Given the description of an element on the screen output the (x, y) to click on. 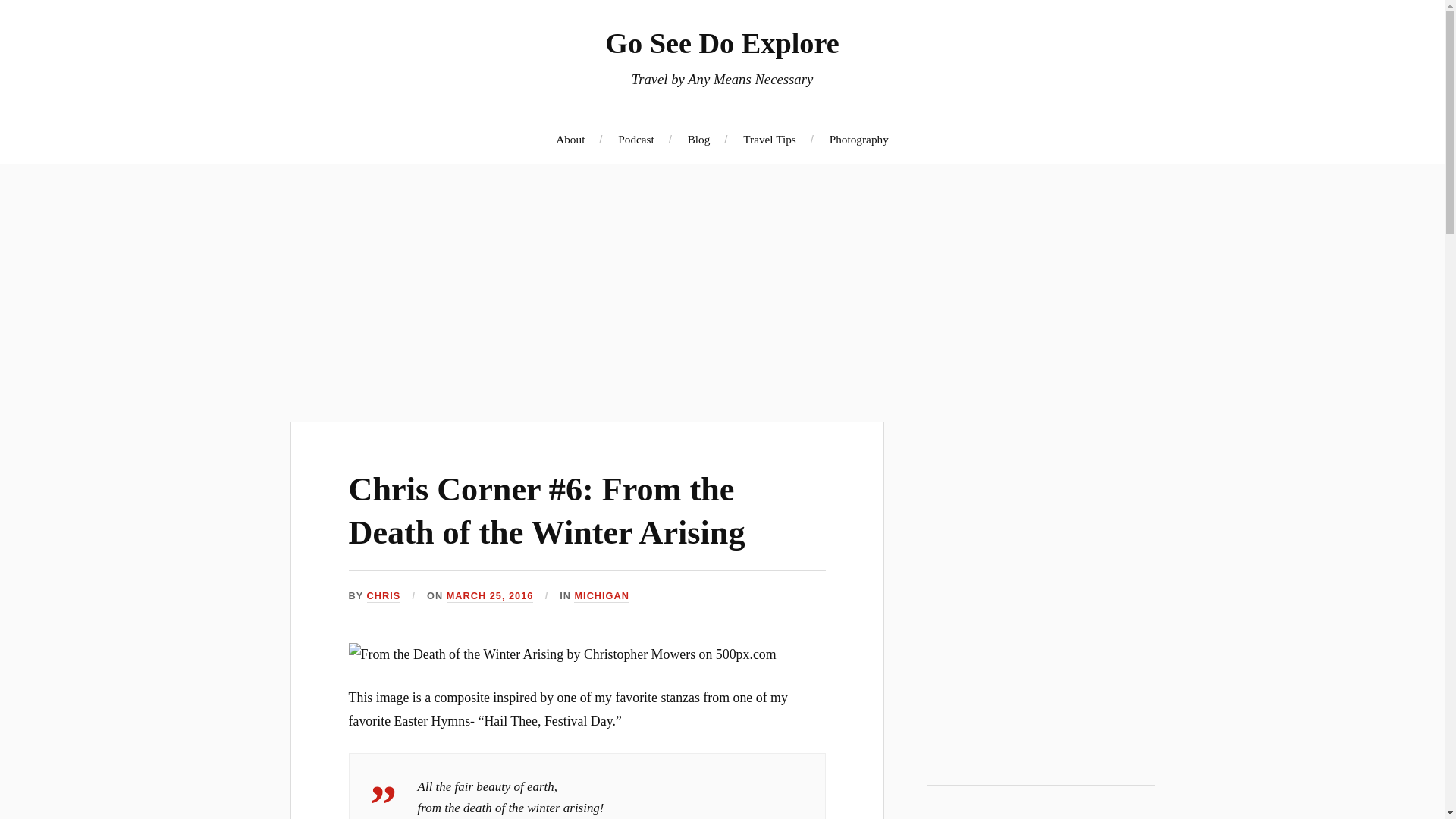
Go See Do Explore (721, 42)
MICHIGAN (600, 595)
CHRIS (383, 595)
Travel Tips (769, 138)
Photography (858, 138)
Posts by Chris (383, 595)
MARCH 25, 2016 (490, 595)
Go See Do Explore (1040, 631)
